Given the description of an element on the screen output the (x, y) to click on. 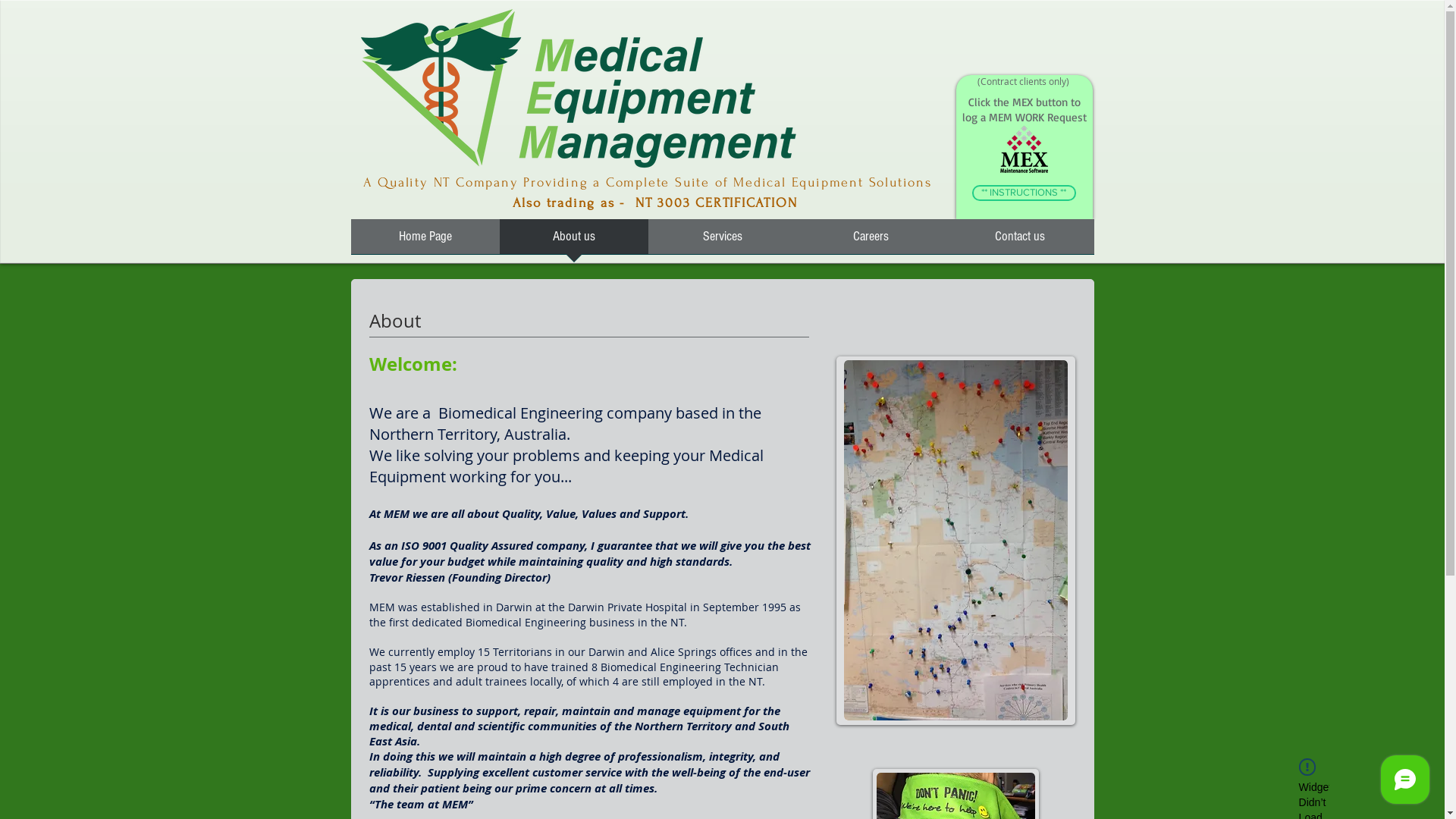
** INSTRUCTIONS ** Element type: text (1024, 192)
Click to add a MEM WORK Request Element type: hover (1023, 149)
ntshortzoom.gif Element type: hover (954, 540)
Services Element type: text (721, 241)
Medical Equipment Management Element type: hover (577, 89)
Contact us Element type: text (1018, 241)
Home Page Element type: text (424, 241)
Careers Element type: text (870, 241)
About us Element type: text (572, 241)
